Given the description of an element on the screen output the (x, y) to click on. 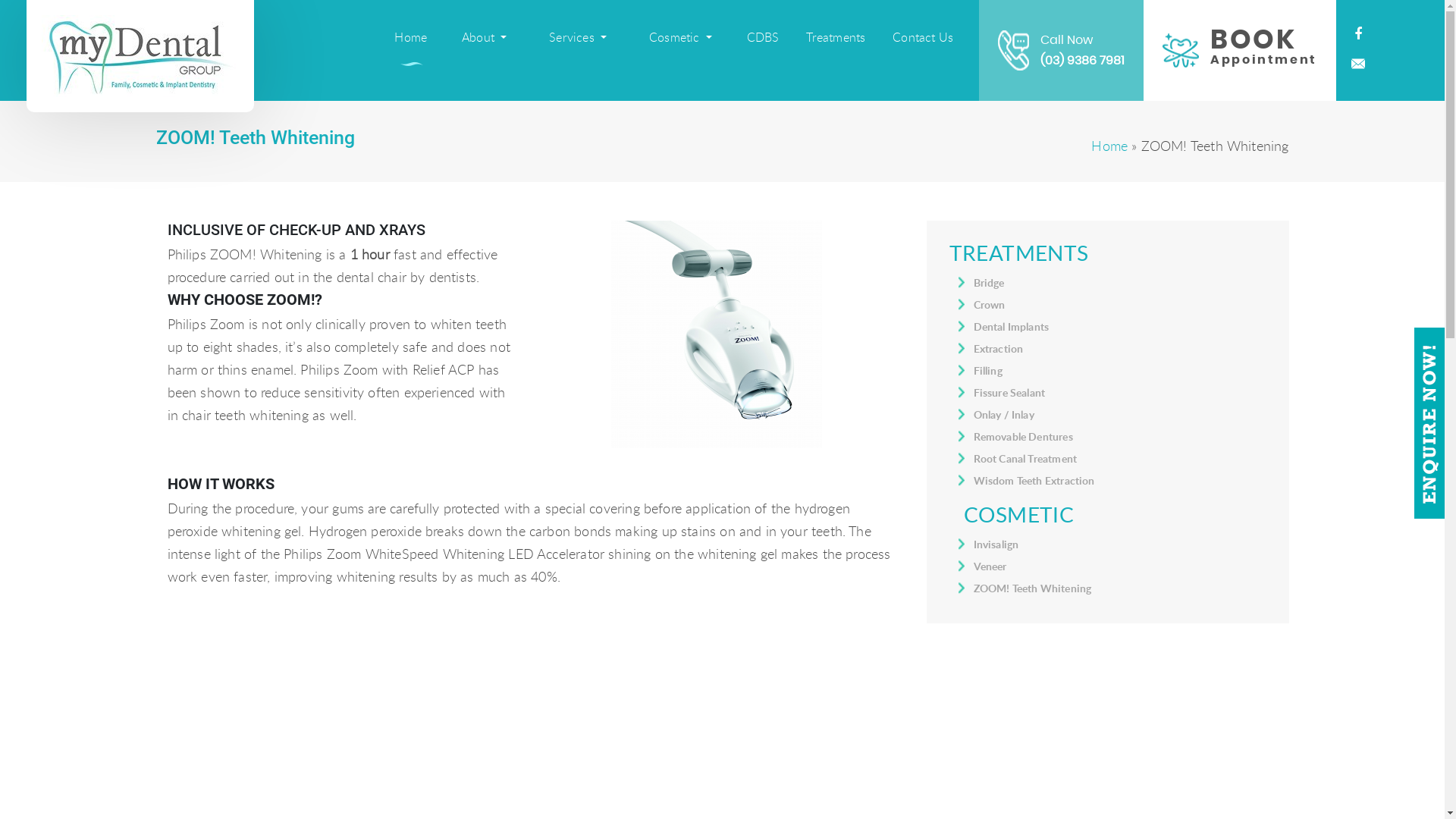
Crown Element type: text (989, 304)
Veneer Element type: text (990, 565)
Cosmetic Element type: text (680, 37)
Filling Element type: text (987, 370)
Contact Us Element type: text (922, 36)
facebook Element type: hover (1357, 34)
Call Now
(03) 9386 7981 Element type: text (1060, 50)
Home Element type: text (410, 36)
Brunswick Dentists - My Dental Group Element type: hover (140, 55)
Removable Dentures Element type: text (1023, 436)
Treatments Element type: text (835, 36)
mail Element type: hover (1358, 64)
Bridge Element type: text (988, 282)
Home Element type: text (1109, 145)
Dental Implants Element type: text (1011, 326)
Root Canal Treatment Element type: text (1025, 458)
About Element type: text (484, 37)
CDBS Element type: text (762, 36)
Onlay / Inlay Element type: text (1003, 414)
Extraction Element type: text (998, 348)
Invisalign Element type: text (996, 543)
Fissure Sealant Element type: text (1009, 392)
BOOK
Appointment Element type: text (1239, 50)
ZOOM! Teeth Whitening Element type: text (1032, 587)
Services Element type: text (577, 37)
Wisdom Teeth Extraction Element type: text (1034, 480)
